Given the description of an element on the screen output the (x, y) to click on. 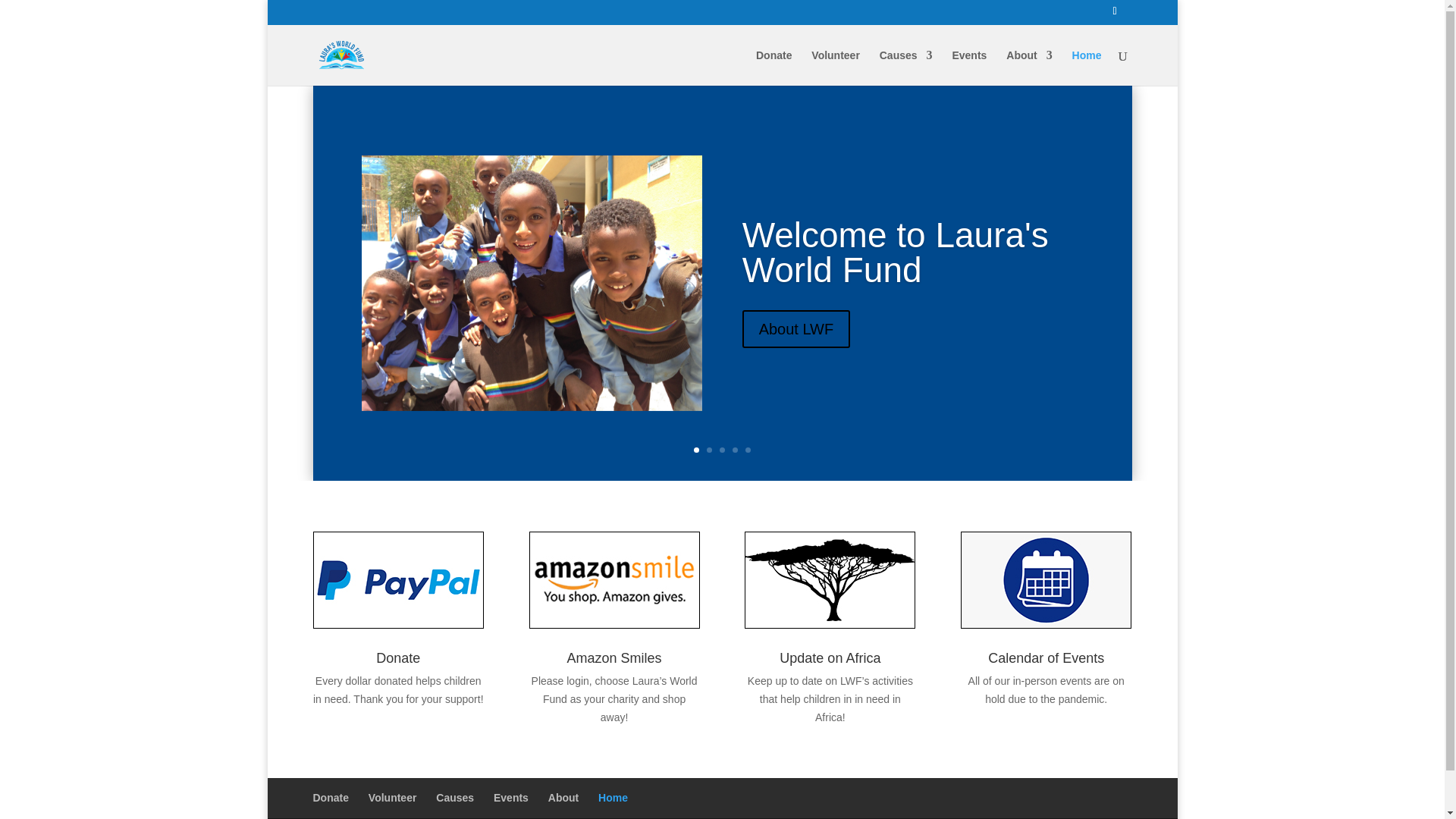
Donate (773, 67)
Volunteer (835, 67)
About (1028, 67)
About LWF (796, 363)
Welcome to Laura's World Fund (895, 287)
Causes (906, 67)
Events (969, 67)
